Given the description of an element on the screen output the (x, y) to click on. 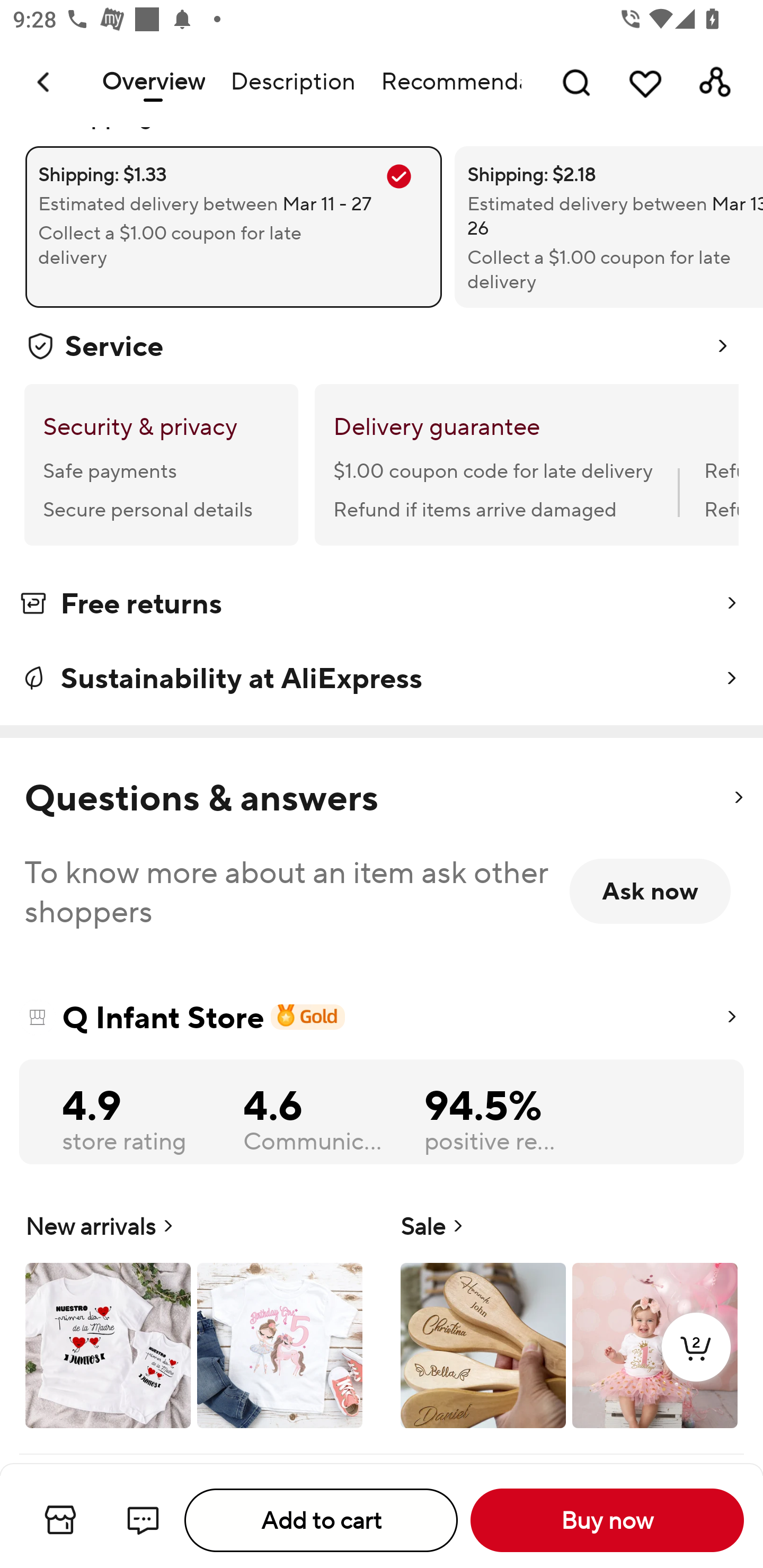
Navigate up (44, 82)
Description (292, 81)
Recommendations (444, 81)
Free returns  (381, 606)
Sustainability at AliExpress  (381, 677)
 (737, 797)
Ask now (649, 891)
New arrivals  (193, 1318)
Sale  (568, 1318)
2 (695, 1366)
Add to cart (320, 1520)
Buy now (606, 1520)
